Given the description of an element on the screen output the (x, y) to click on. 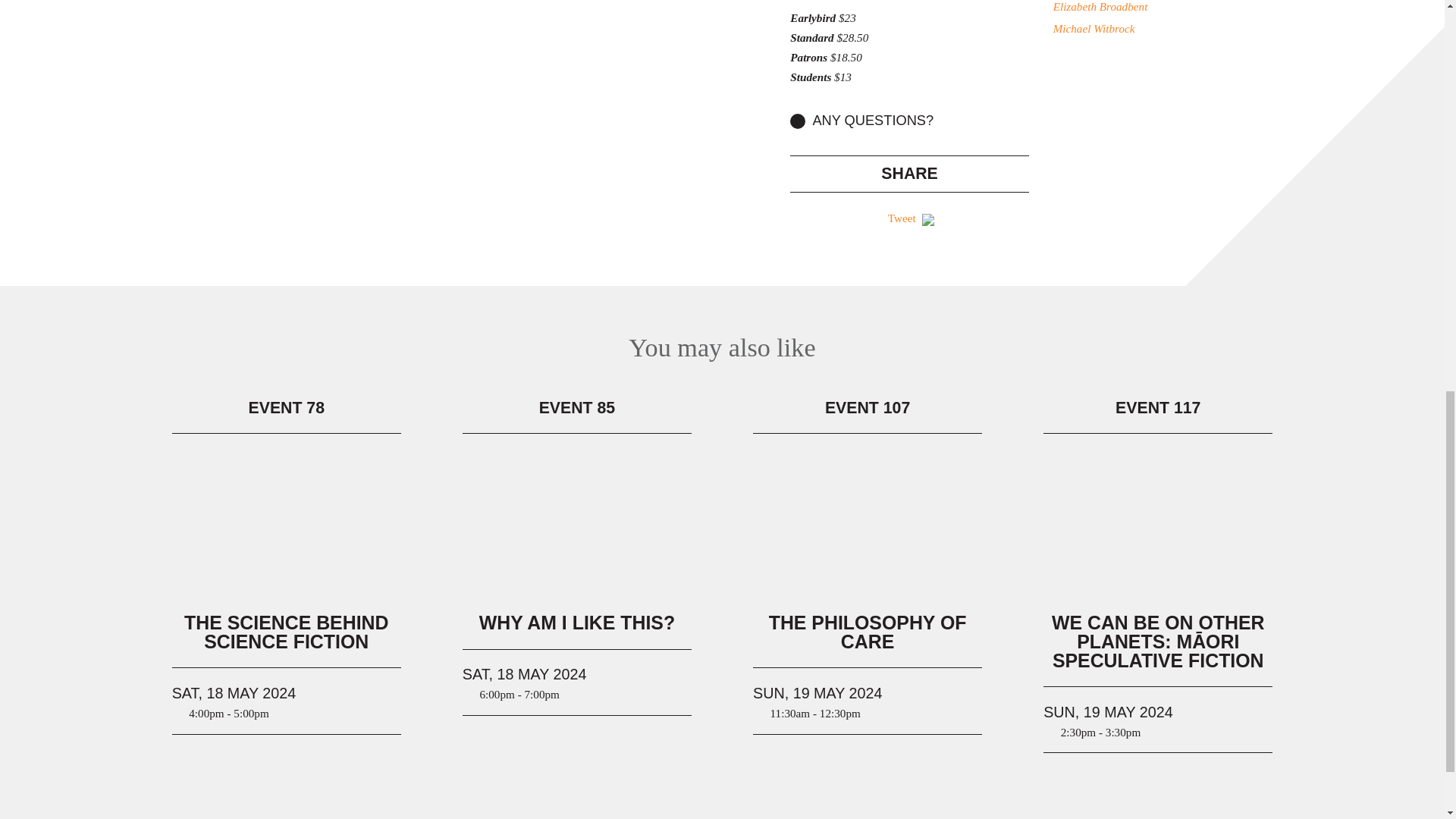
Elizabeth Broadbent (1172, 8)
Michael Witbrock (1172, 28)
ANY QUESTIONS? (909, 120)
Tweet (901, 217)
